Given the description of an element on the screen output the (x, y) to click on. 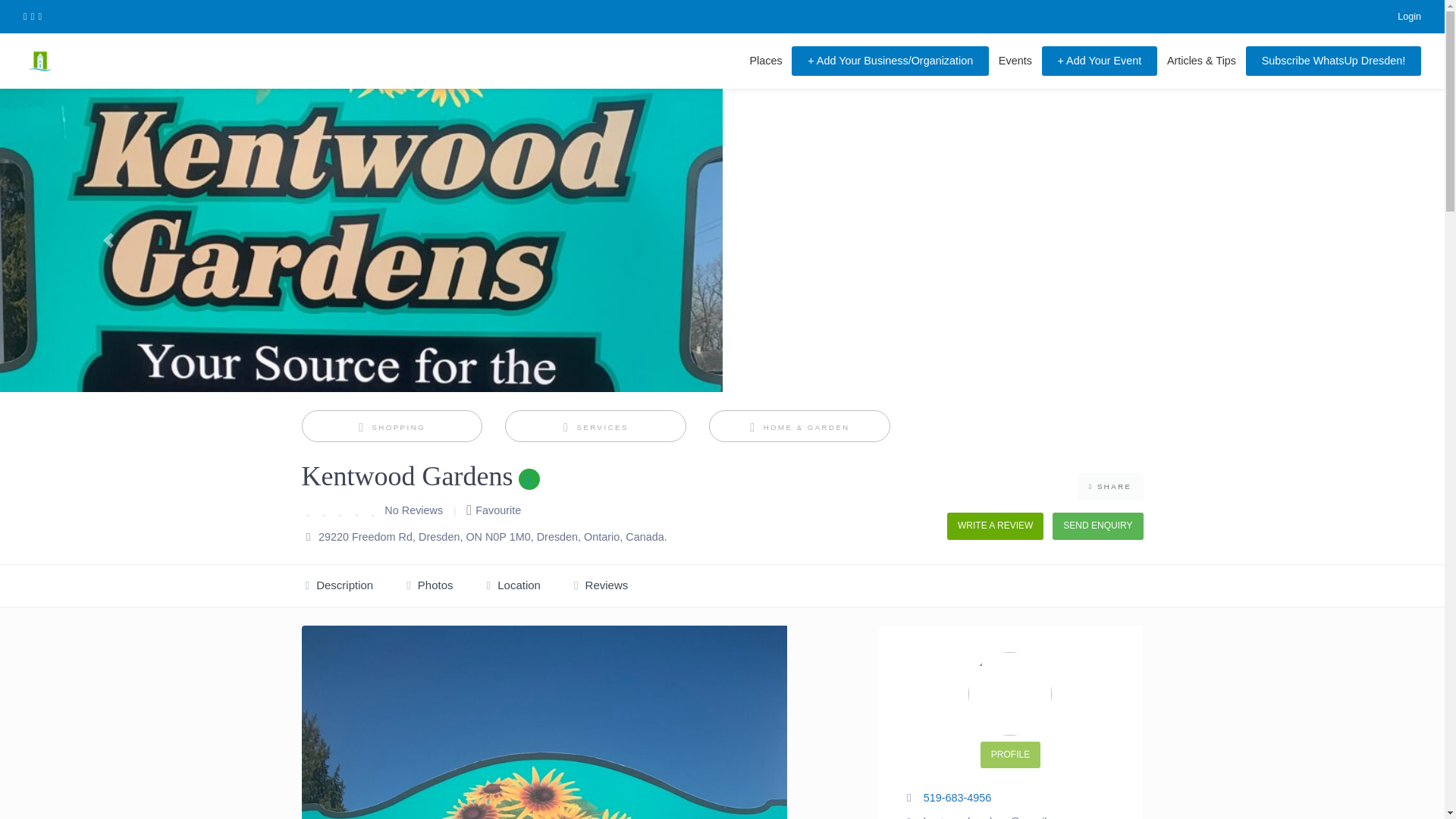
Subscribe WhatsUp Dresden! (1333, 60)
SERVICES (595, 427)
No rating yet! (341, 510)
Photos (430, 586)
Verified (529, 478)
SHOPPING (391, 427)
Places (765, 60)
Login (1399, 16)
Login (1399, 16)
Subscribe WhatsUp Dresden! (1333, 60)
SEND ENQUIRY (1097, 525)
Places (765, 60)
Location (513, 586)
Reviews (600, 586)
SHARE (1109, 486)
